Given the description of an element on the screen output the (x, y) to click on. 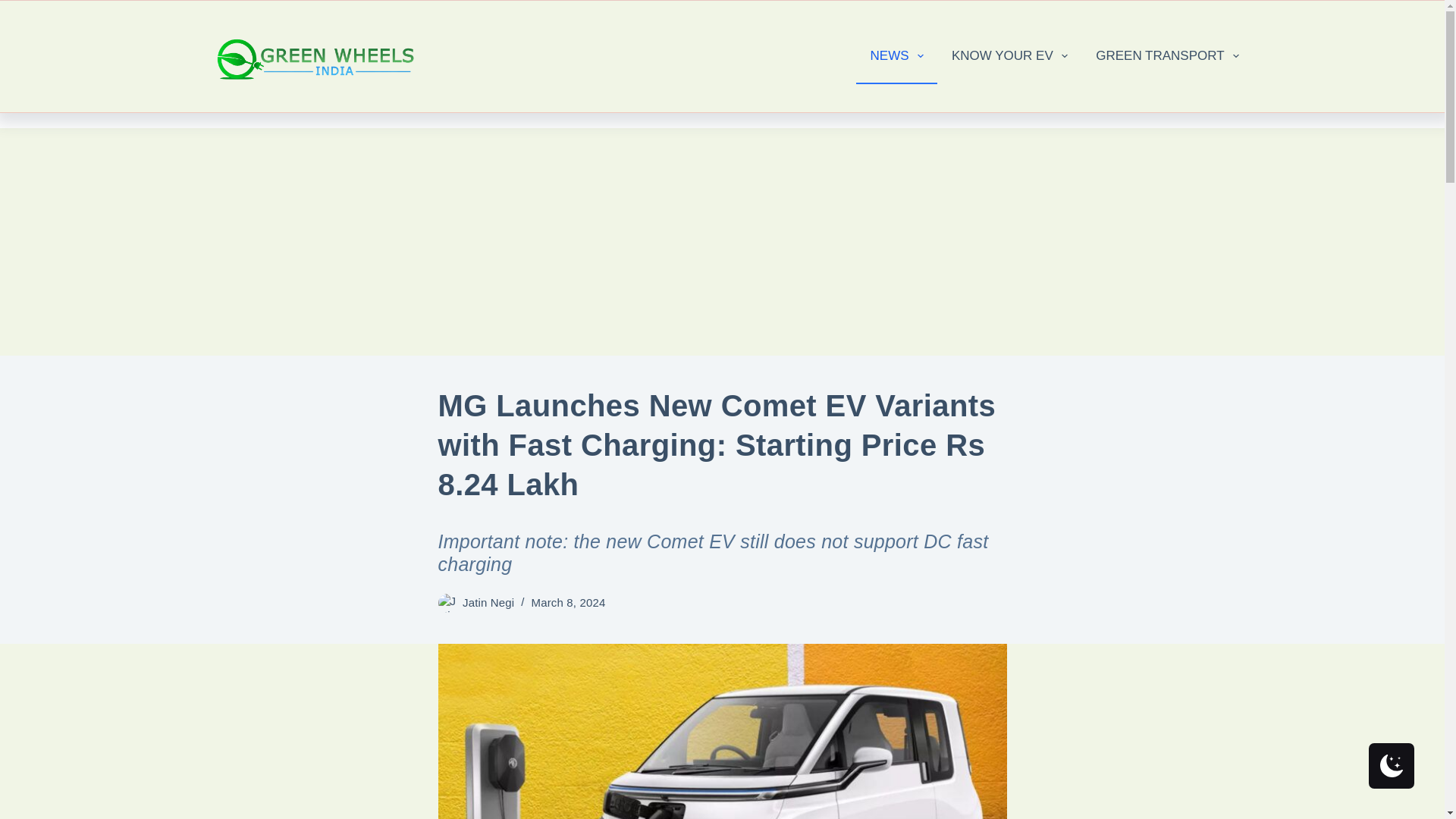
Skip to content (15, 7)
GREEN TRANSPORT (1167, 55)
NEWS (896, 55)
Posts by Jatin Negi (488, 602)
KNOW YOUR EV (1009, 55)
